Given the description of an element on the screen output the (x, y) to click on. 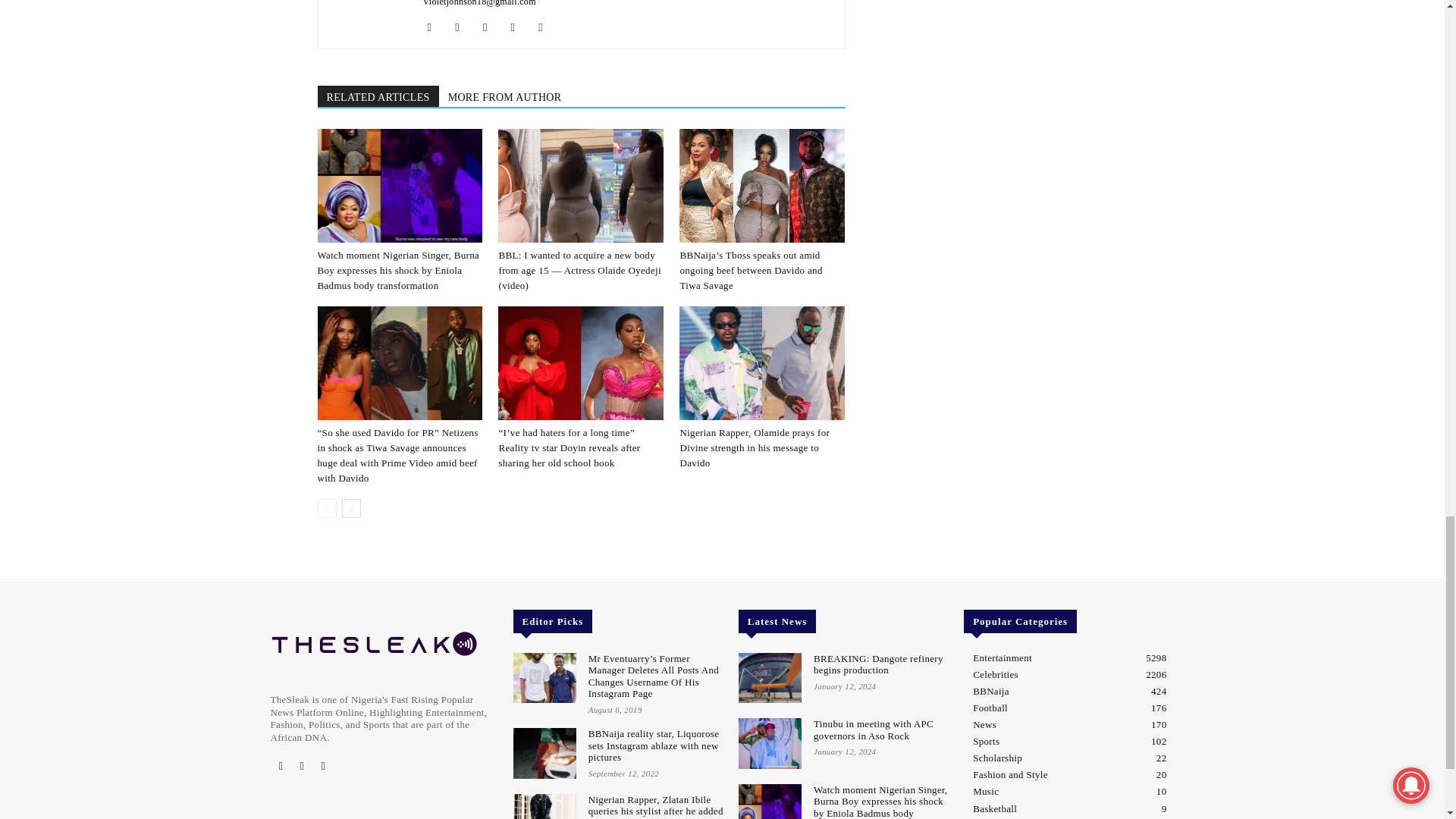
Skype (518, 27)
Twitter (546, 27)
Instagram (462, 27)
Mail (491, 27)
Facebook (435, 27)
